Given the description of an element on the screen output the (x, y) to click on. 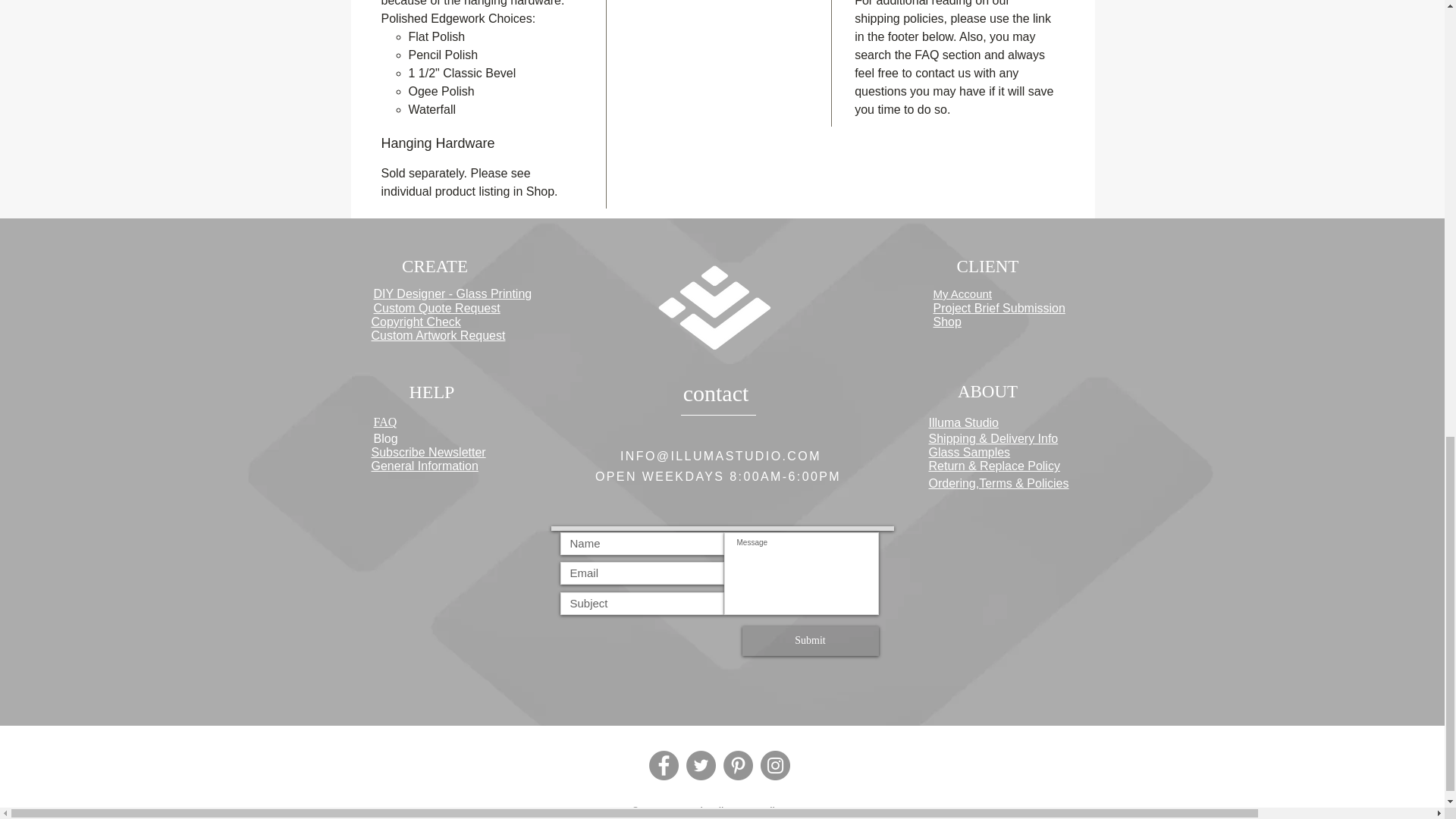
Illuma Studio (963, 422)
Custom Quote Request (435, 308)
Subscribe Newsletter (428, 451)
Copyright Check (416, 321)
Shop (946, 321)
Custom Artwork Request (438, 335)
Glass Samples (969, 451)
Project Brief Submission (998, 308)
General Information (425, 465)
DIY Designer - Glass Printing (451, 293)
